Given the description of an element on the screen output the (x, y) to click on. 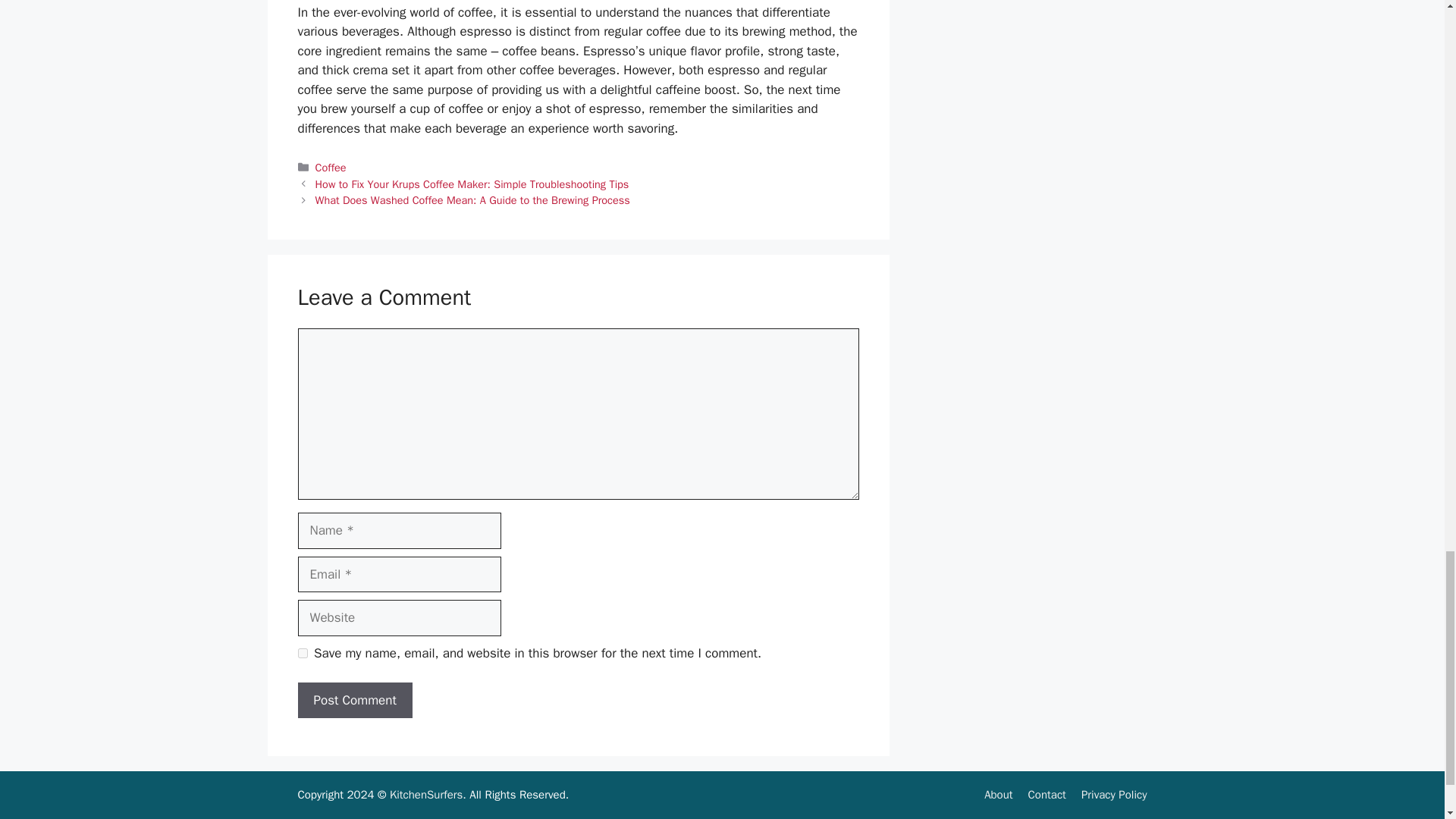
Coffee (330, 167)
KitchenSurfers (426, 794)
Privacy Policy (1114, 794)
What Does Washed Coffee Mean: A Guide to the Brewing Process (472, 200)
Contact (1046, 794)
Post Comment (354, 700)
Post Comment (354, 700)
About (997, 794)
yes (302, 653)
